Given the description of an element on the screen output the (x, y) to click on. 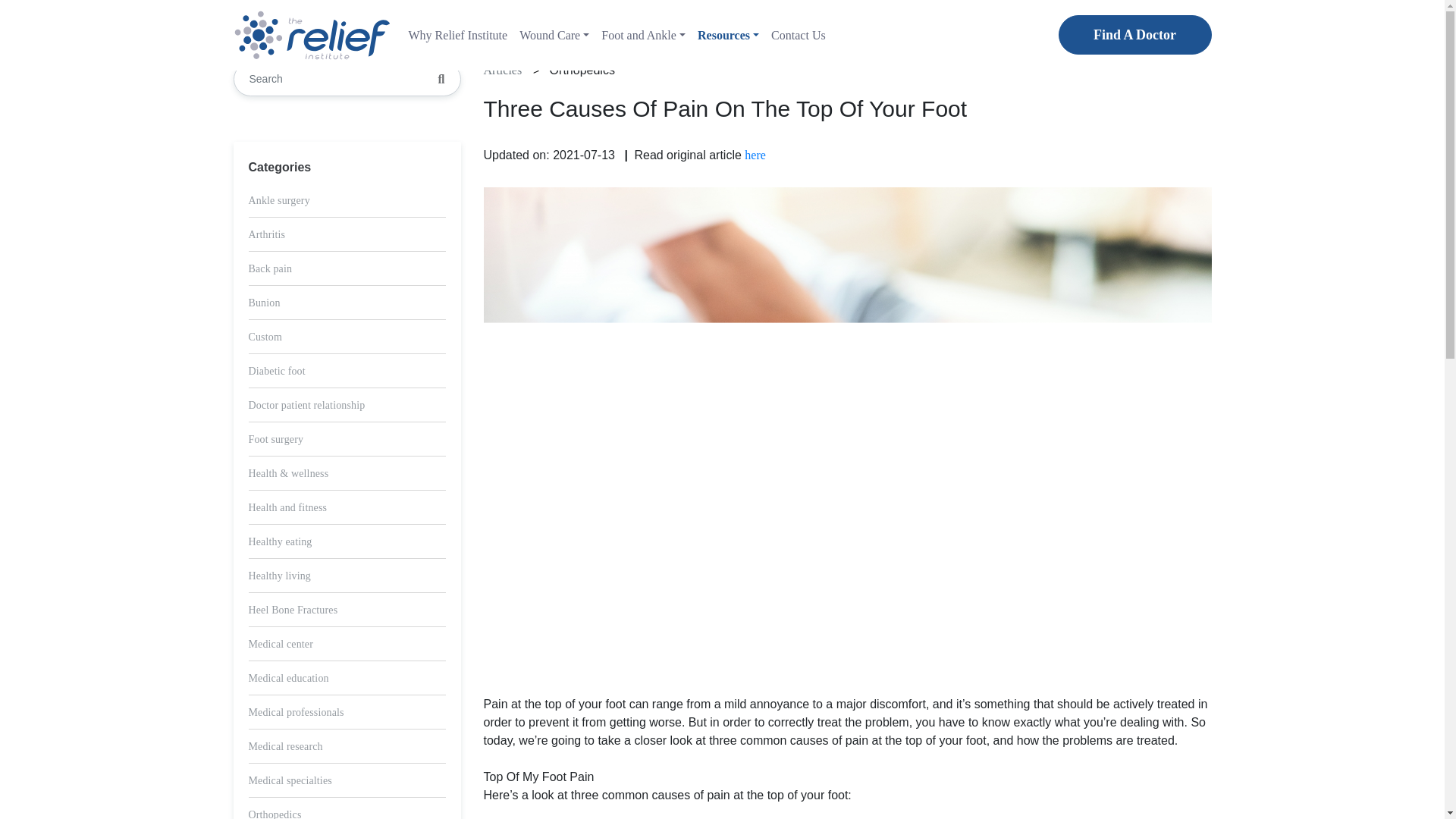
Arthritis (266, 234)
Find A Doctor (1134, 34)
Medical center (281, 644)
Why Relief Institute (457, 34)
Contact Us (798, 34)
Custom   (265, 337)
Ankle surgery (279, 200)
Foot and Ankle (643, 34)
Bunion (264, 302)
Wound Care (554, 34)
